Given the description of an element on the screen output the (x, y) to click on. 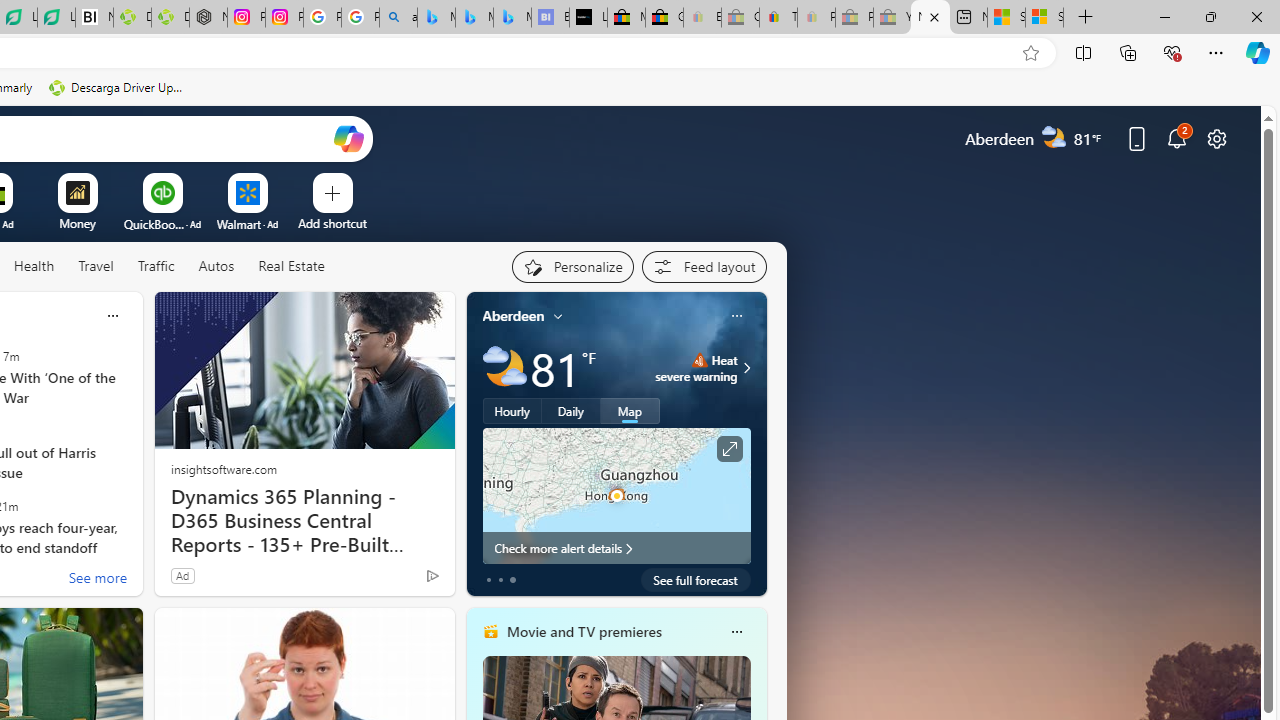
Daily (571, 411)
Heat - Severe (699, 359)
Nvidia va a poner a prueba la paciencia de los inversores (93, 17)
Check more alert details (616, 547)
